Given the description of an element on the screen output the (x, y) to click on. 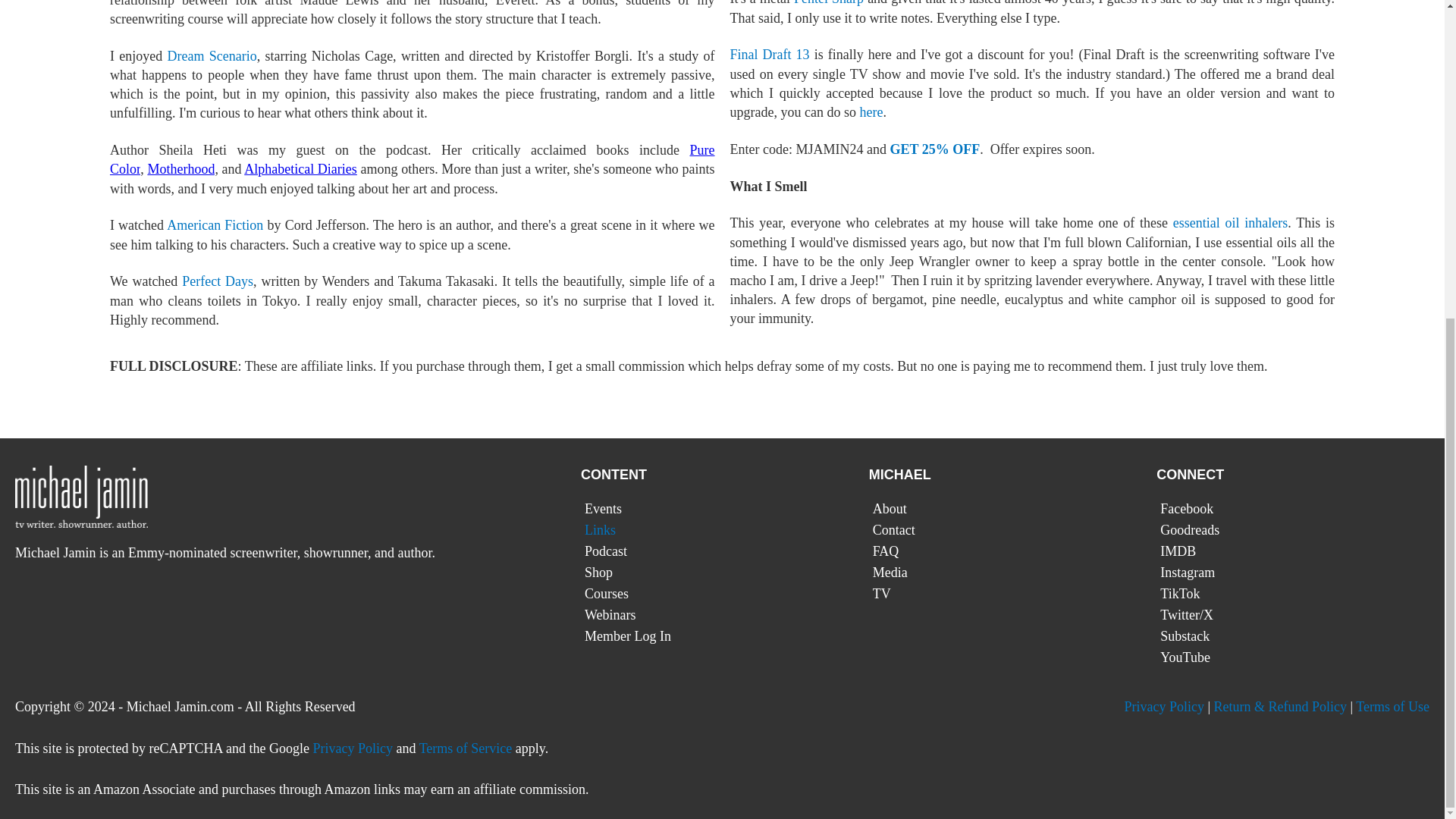
Pentel Sharp (828, 2)
Perfect Days (217, 281)
American Fiction (215, 224)
Dream Scenario (212, 55)
Alphabetical Diaries (300, 168)
Pure Color (412, 159)
Motherhood (180, 168)
Final Draft 13 (769, 54)
